Given the description of an element on the screen output the (x, y) to click on. 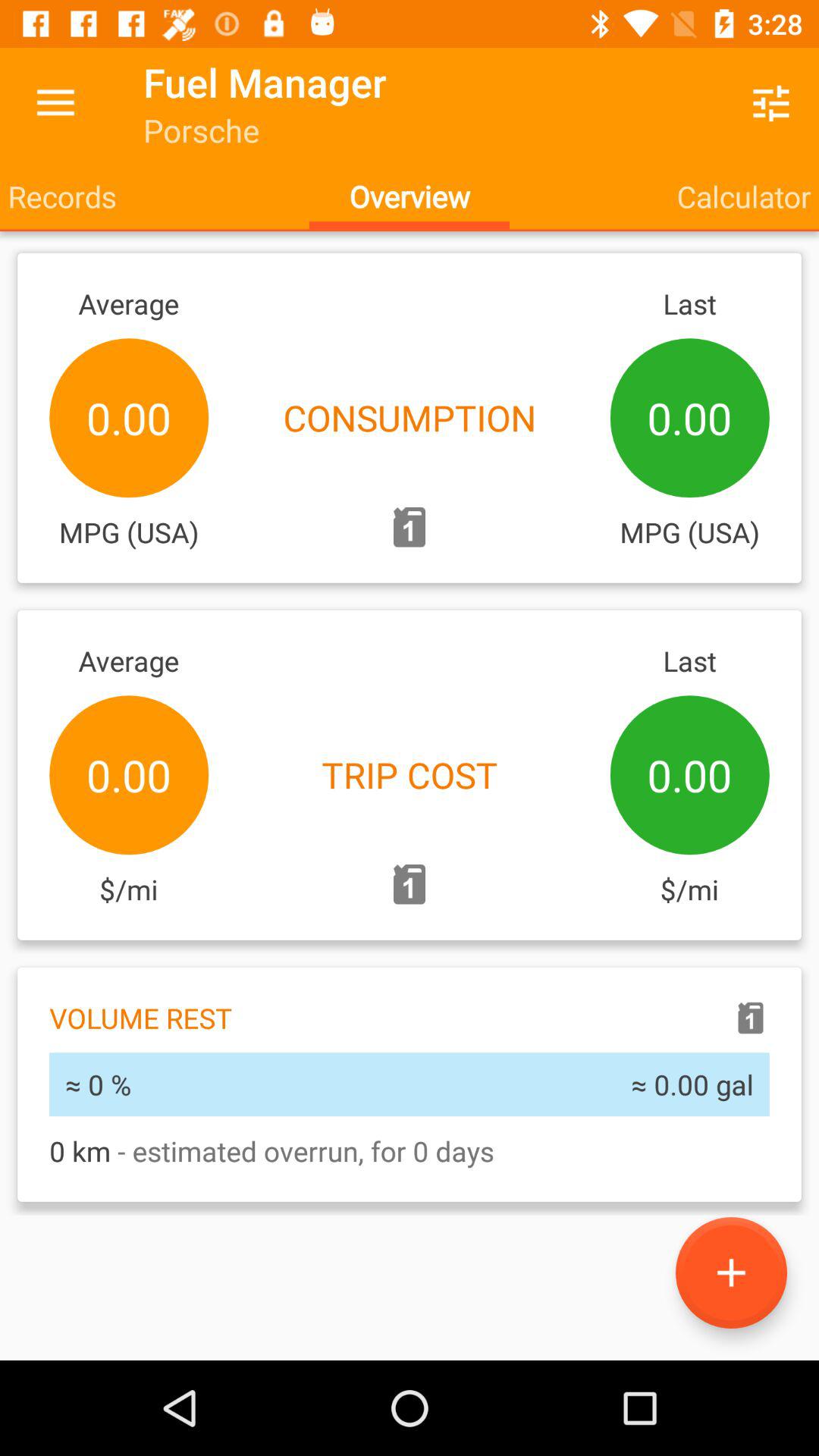
select the icon which is under the text consumption (409, 527)
